Given the description of an element on the screen output the (x, y) to click on. 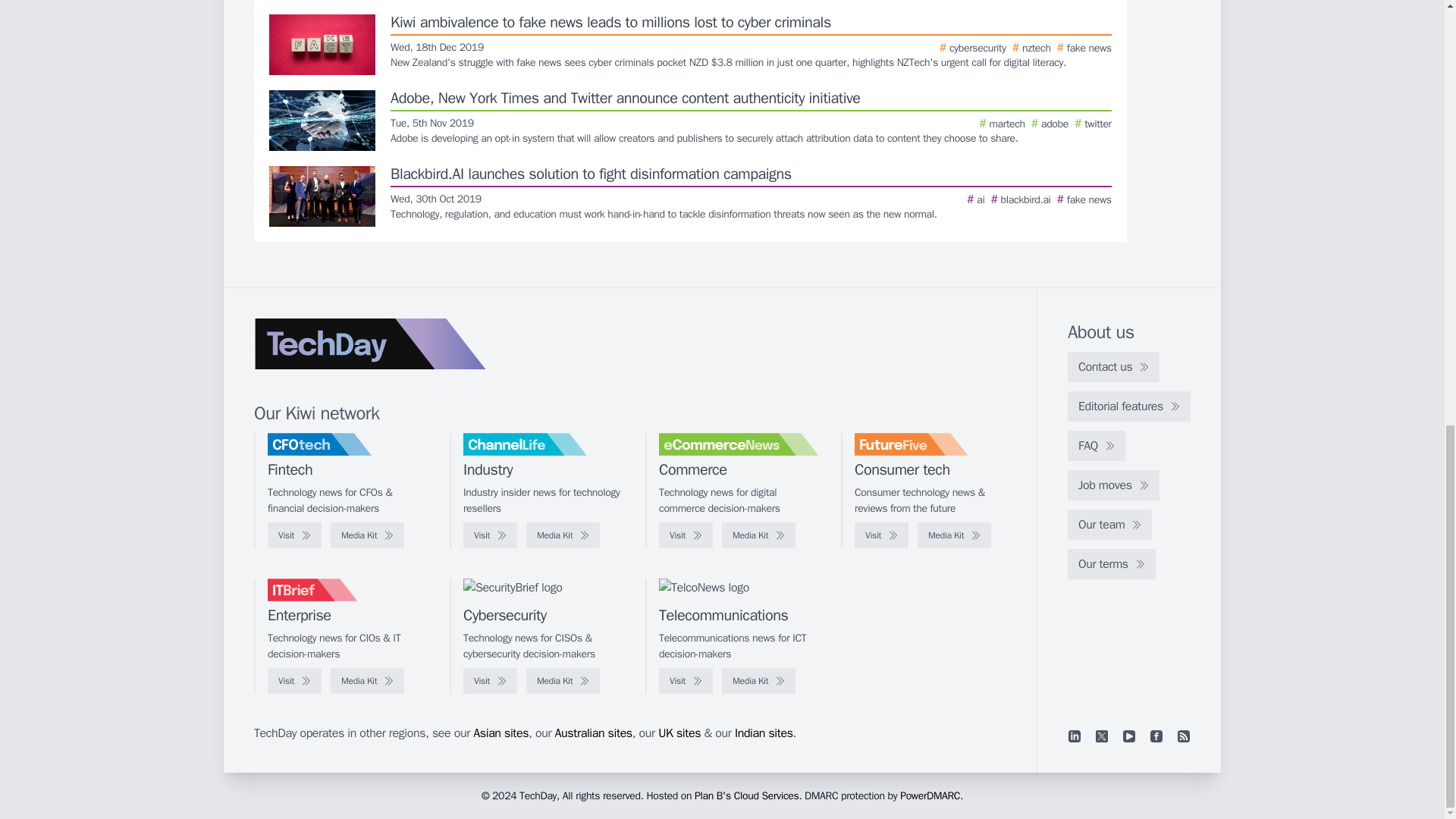
Media Kit (562, 680)
Visit (881, 534)
Visit (294, 680)
Media Kit (562, 534)
Media Kit (758, 680)
Visit (489, 534)
Asian sites (500, 733)
Visit (686, 534)
Visit (489, 680)
Visit (686, 680)
